Given the description of an element on the screen output the (x, y) to click on. 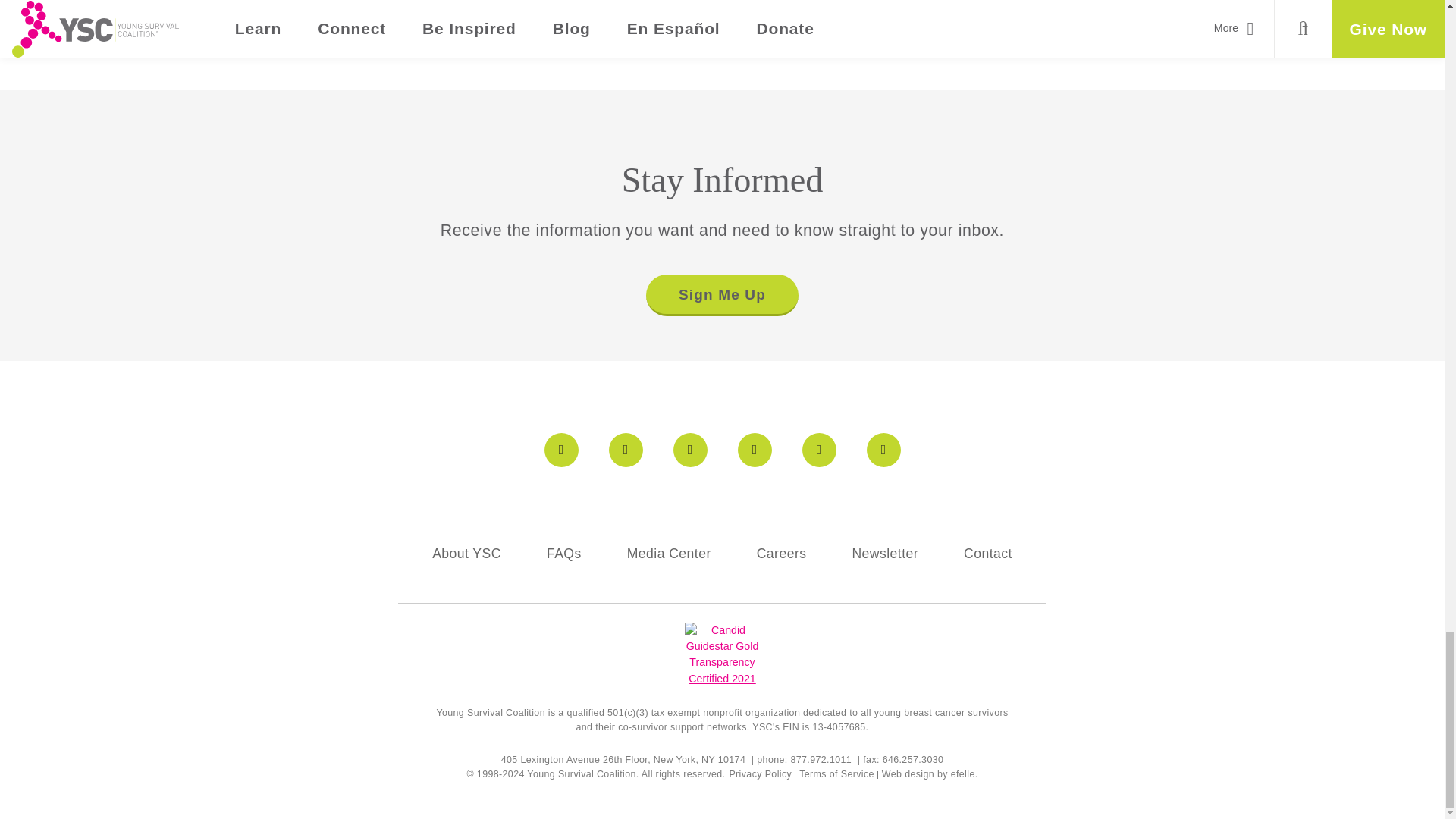
Sign Me Up (721, 294)
Web Design By Efelle (908, 774)
Candid Guidestar Gold Transparency Certified 2021 (721, 654)
